Given the description of an element on the screen output the (x, y) to click on. 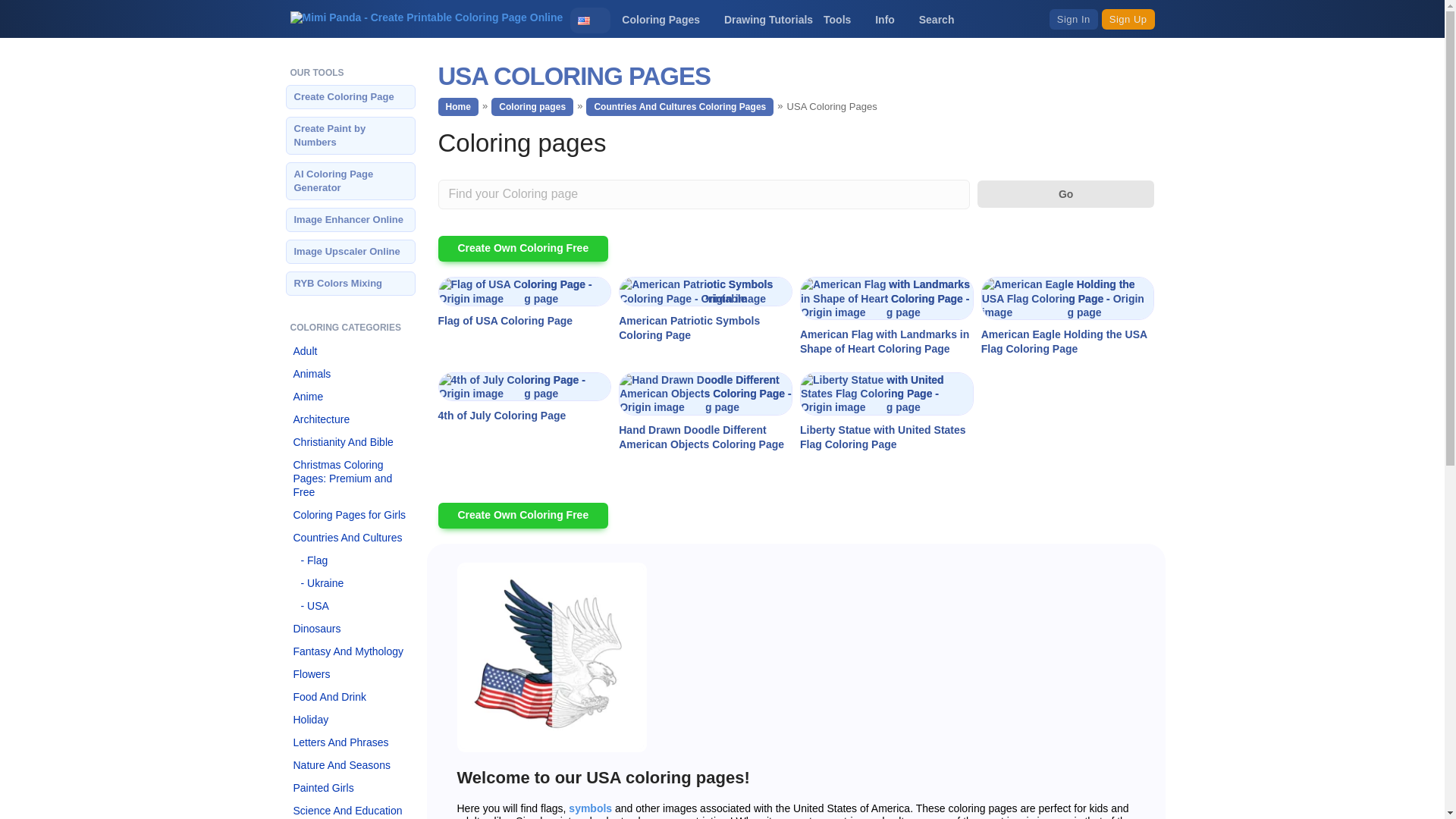
Coloring Pages (667, 20)
Tools (844, 20)
Adult (349, 350)
Animals (349, 373)
Sign In (1073, 19)
Drawing Tutorials (767, 20)
Info (891, 20)
Sign Up (1128, 19)
Mimi Panda - Create Printable Coloring Page Online (425, 18)
